Given the description of an element on the screen output the (x, y) to click on. 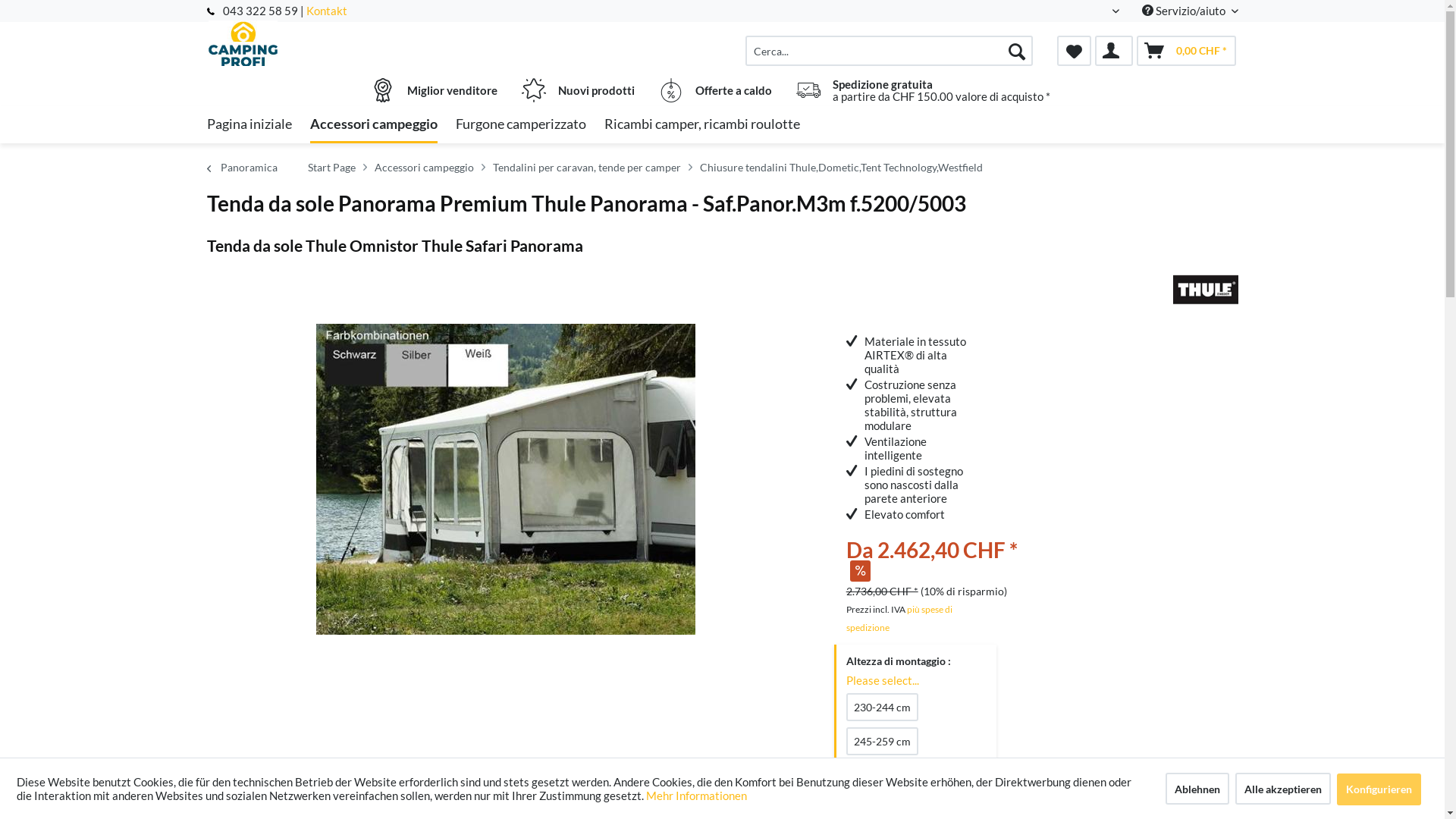
Chiusure tendalini Thule,Dometic,Tent Technology,Westfield Element type: text (840, 167)
Miglior venditore Element type: text (433, 90)
Campingprofi Donada & Witzig AG - Vai alla Pagina iniziale Element type: hover (334, 42)
Lista dei desideri Element type: hover (1074, 50)
Accessori campeggio Element type: text (372, 124)
Start Page Element type: text (331, 167)
Nuovi prodotti Element type: text (577, 90)
Tenda da sole Thule QuickFit - Thule Quickfit Medi.260cm Element type: hover (1267, 441)
0,00 CHF * Element type: text (1186, 50)
Konfigurieren Element type: text (1378, 789)
Furgone camperizzato Element type: text (520, 124)
Panoramica Element type: text (252, 167)
Tendalini per caravan, tende per camper Element type: text (586, 167)
Ulteriori prodotti di Thule Element type: hover (1205, 289)
Alle akzeptieren Element type: text (1282, 788)
Il mio account Element type: hover (1113, 50)
Kontakt Element type: text (326, 10)
Ricambi camper, ricambi roulotte Element type: text (701, 124)
Accessori campeggio Element type: text (423, 167)
Pagina iniziale Element type: text (248, 124)
Mehr Informationen Element type: text (696, 795)
Offerte a caldo Element type: text (714, 90)
Ablehnen Element type: text (1196, 788)
